Given the description of an element on the screen output the (x, y) to click on. 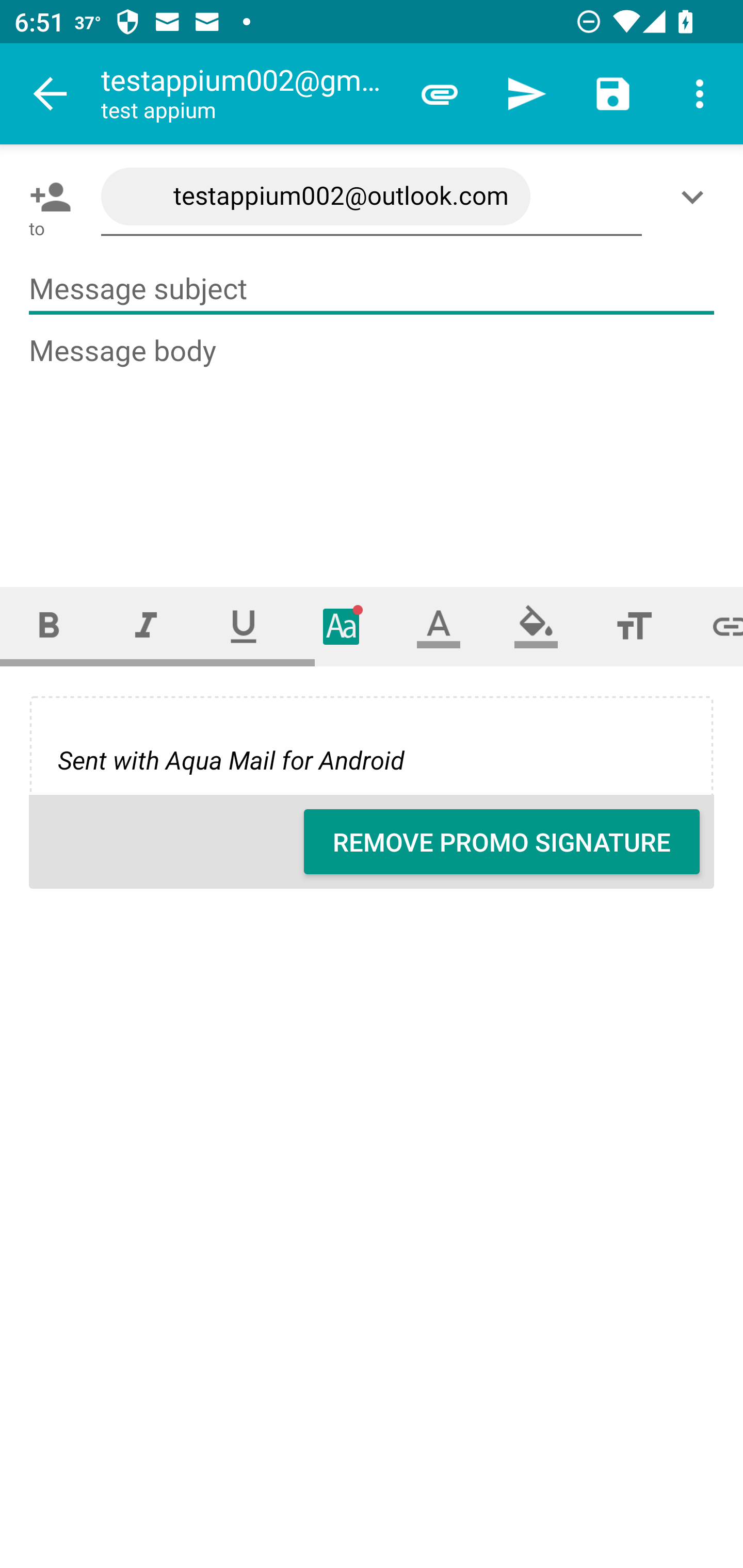
Navigate up (50, 93)
testappium002@gmail.com test appium (248, 93)
Attach (439, 93)
Send (525, 93)
Save (612, 93)
More options (699, 93)
testappium002@outlook.com,  (371, 197)
Pick contact: To (46, 196)
Show/Add CC/BCC (696, 196)
Message subject (371, 288)
Message body (372, 442)
Bold (48, 626)
Italic (145, 626)
Underline (243, 626)
Typeface (font) (341, 626)
Text color (438, 626)
Fill color (536, 626)
Font size (633, 626)
REMOVE PROMO SIGNATURE (501, 841)
